Given the description of an element on the screen output the (x, y) to click on. 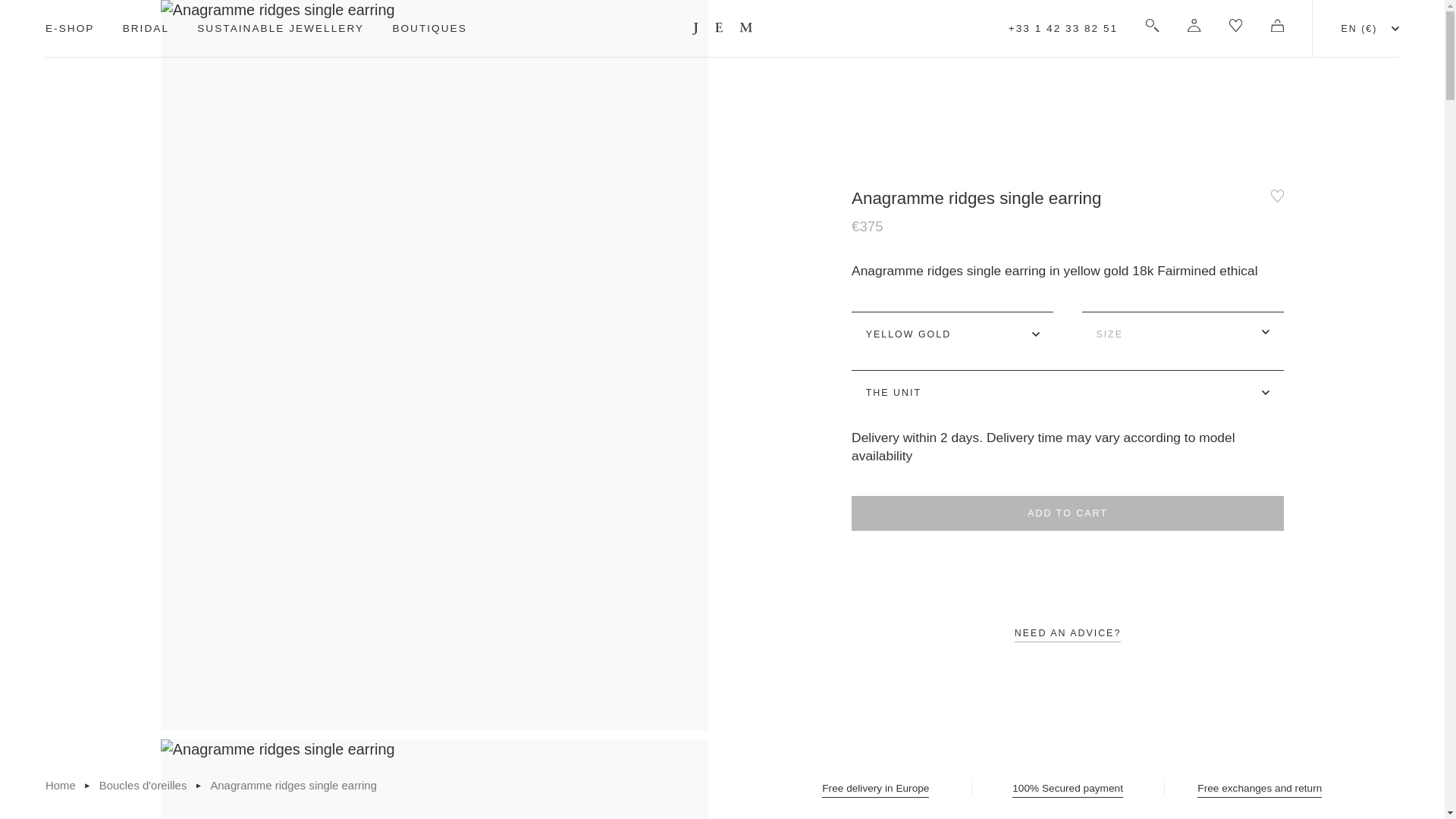
BOUTIQUES (428, 28)
SUSTAINABLE JEWELLERY (280, 28)
